Given the description of an element on the screen output the (x, y) to click on. 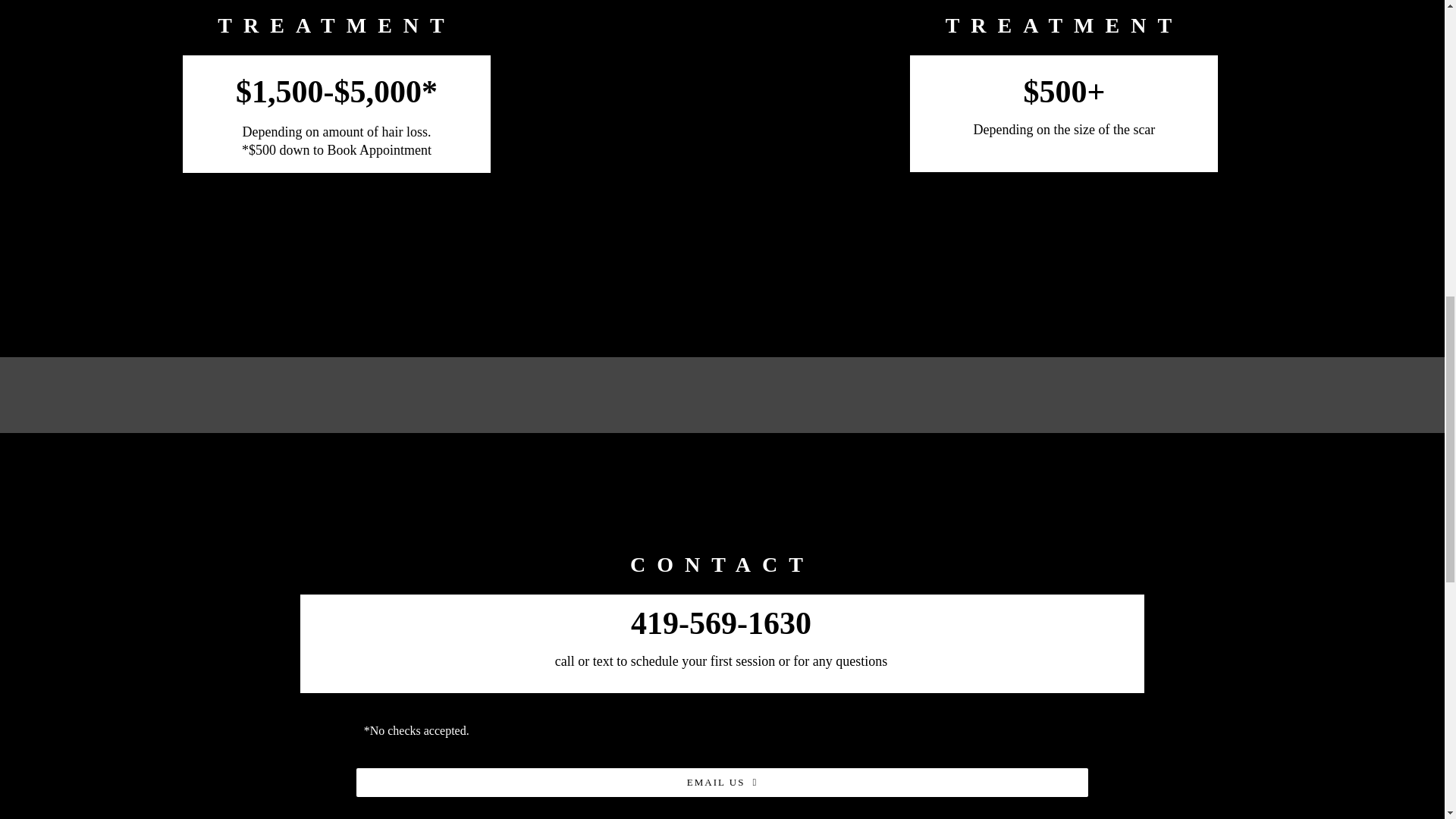
419-569-1630 (720, 623)
star (722, 494)
EMAIL US (721, 782)
